Given the description of an element on the screen output the (x, y) to click on. 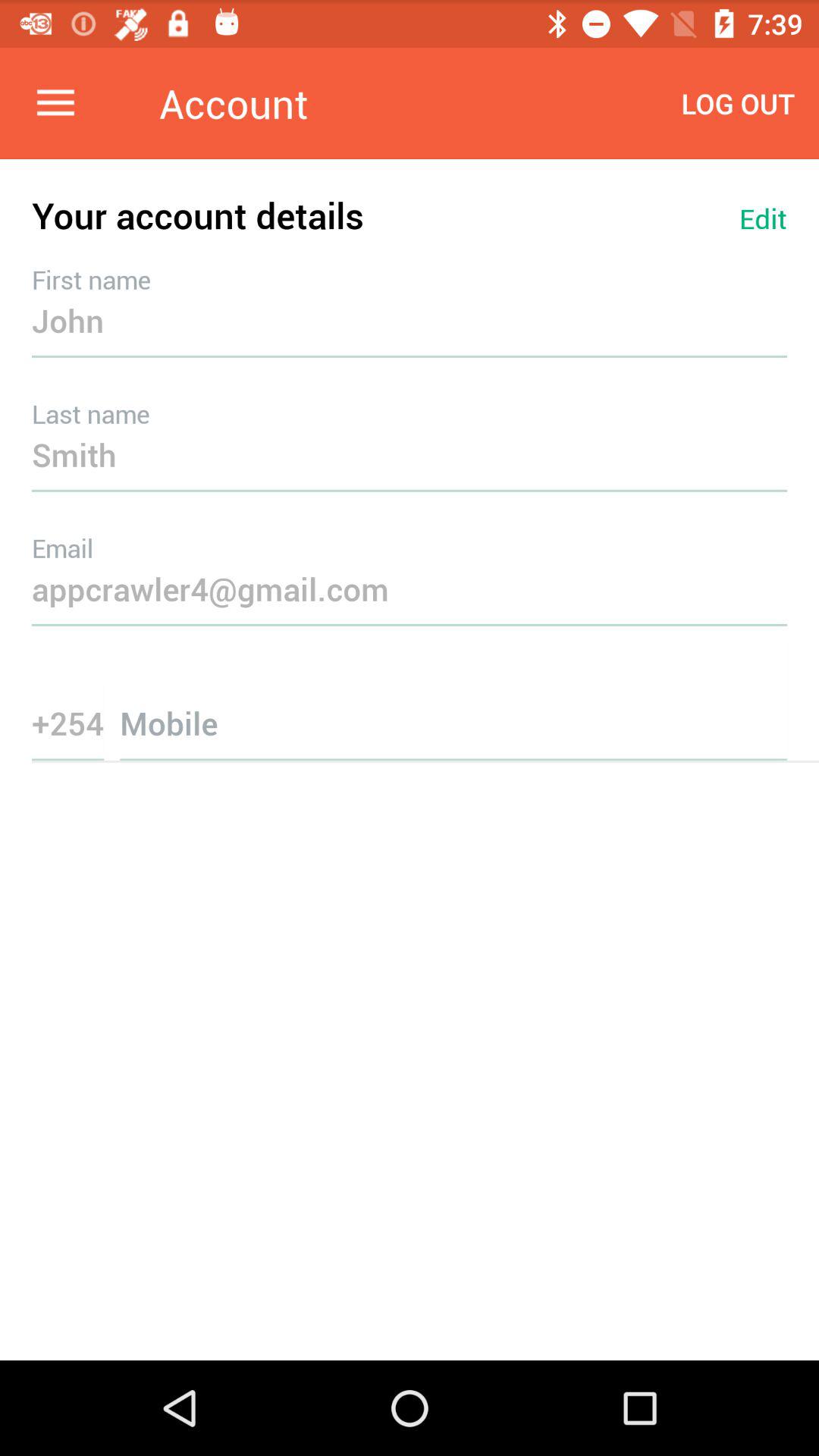
choose the item next to the your account details item (763, 218)
